Given the description of an element on the screen output the (x, y) to click on. 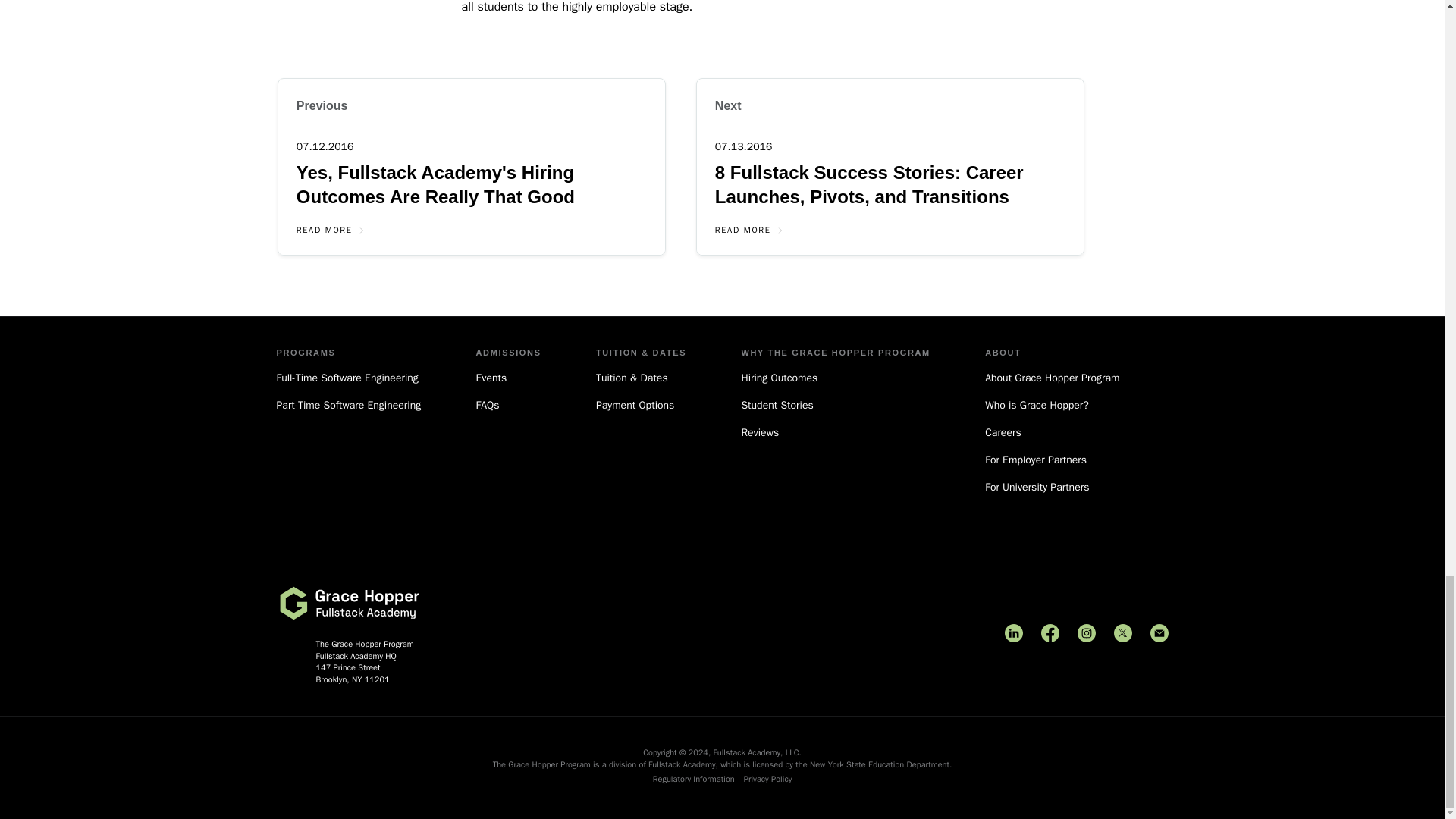
Part-Time Software Engineering (348, 405)
Full-Time Software Engineering (348, 378)
